Given the description of an element on the screen output the (x, y) to click on. 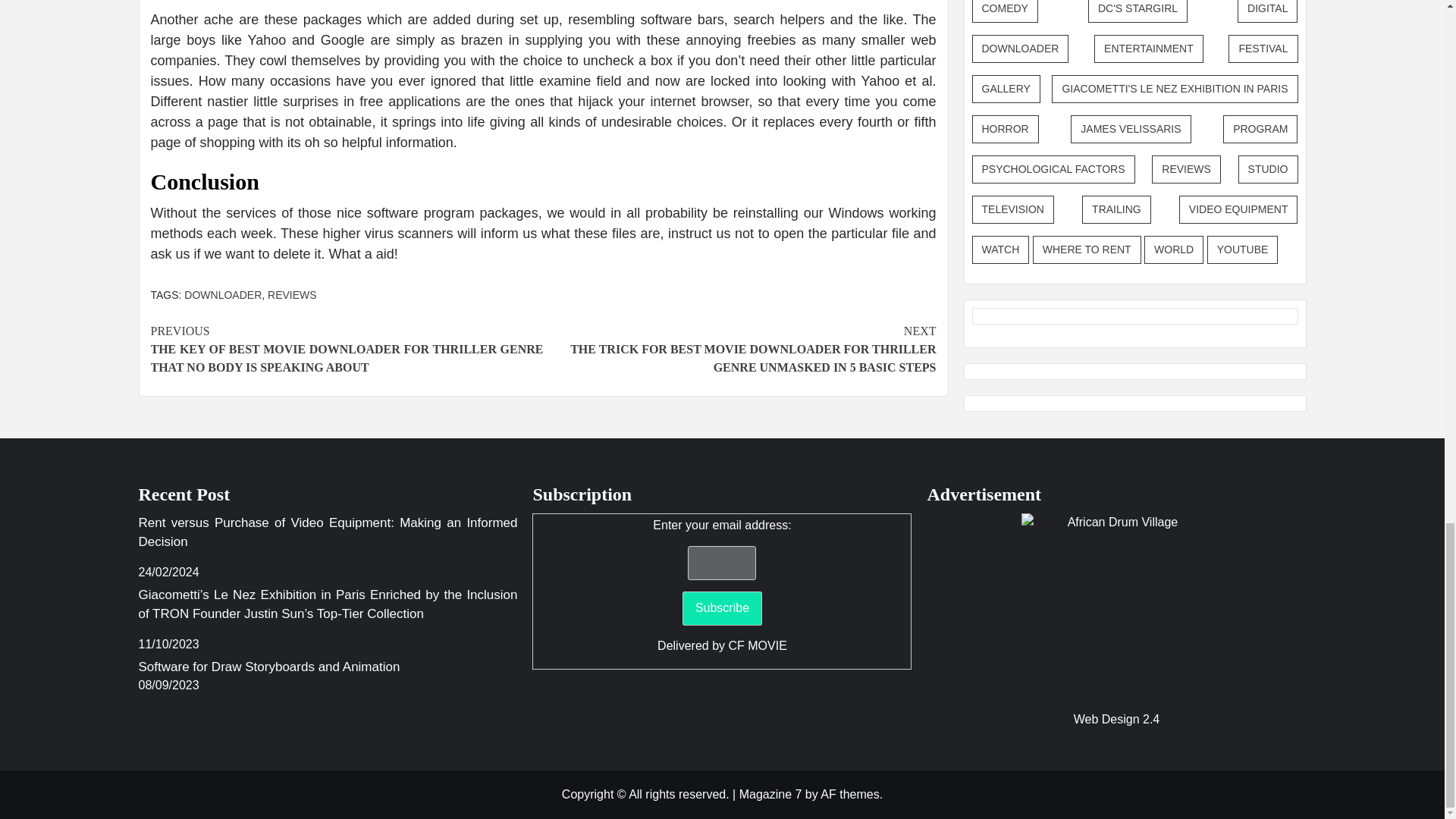
African Drum Village (1116, 607)
Subscribe (721, 608)
DOWNLOADER (223, 295)
REVIEWS (292, 295)
